Given the description of an element on the screen output the (x, y) to click on. 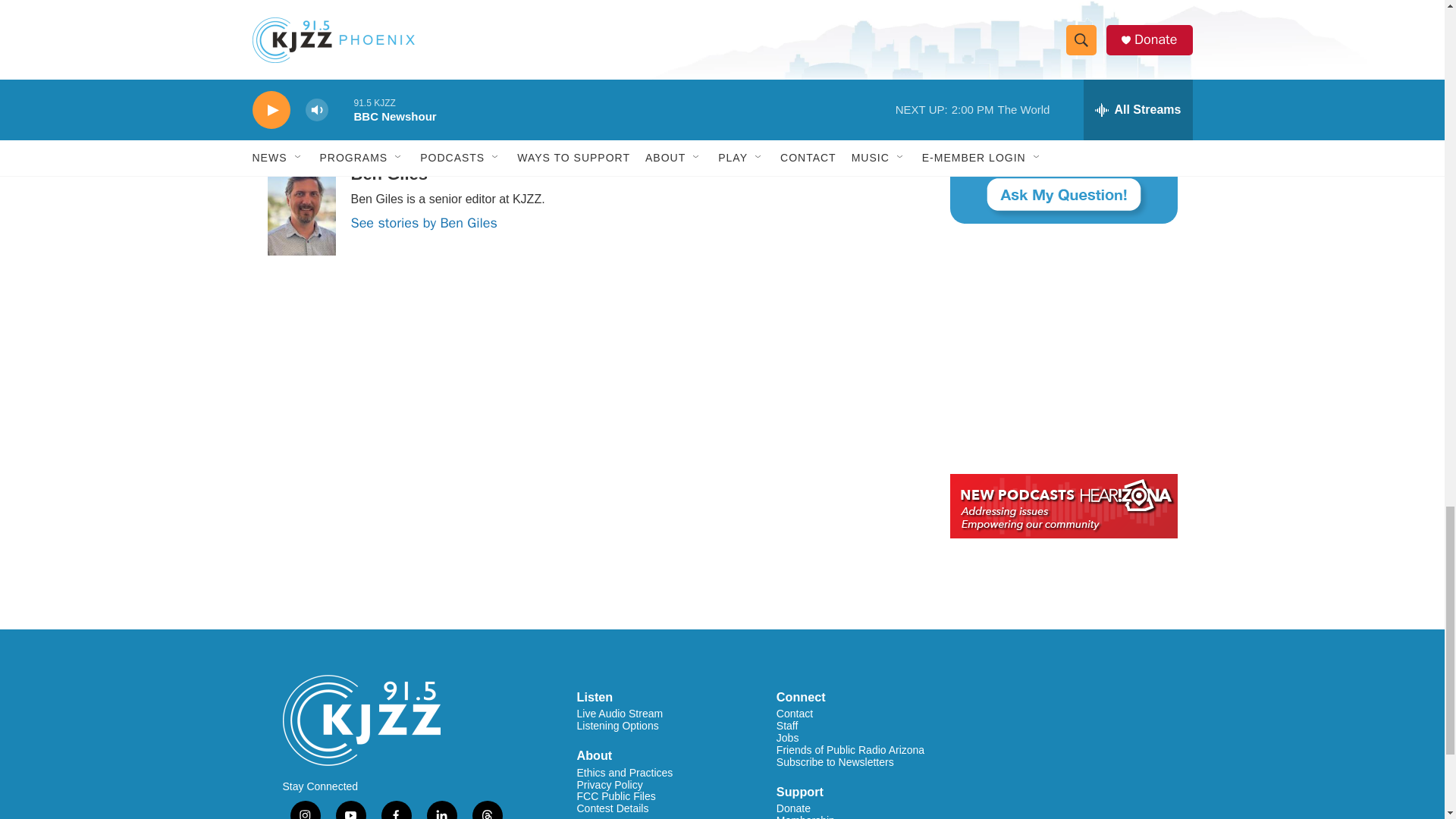
Spot 127 web site (1062, 2)
3rd party ad content (1062, 348)
